Given the description of an element on the screen output the (x, y) to click on. 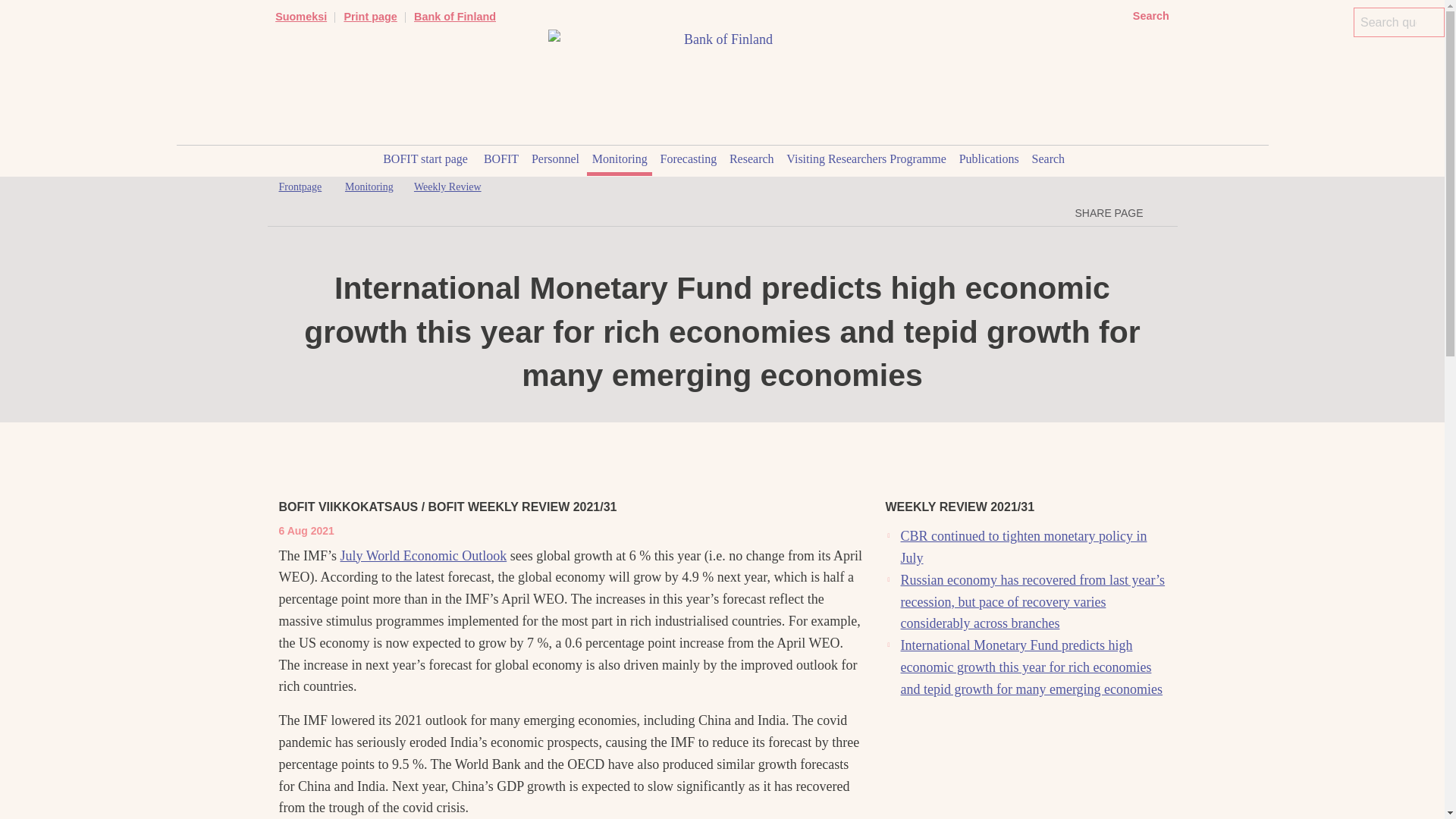
Return to frontpage (300, 186)
Go to section Monitoring (369, 186)
BOFIT start page (425, 160)
Monitoring (619, 161)
BOFIT (501, 161)
Print page (369, 16)
Go to section Weekly Review (447, 186)
Personnel (556, 161)
Bank of Finland (454, 16)
Suomeksi (300, 16)
